Given the description of an element on the screen output the (x, y) to click on. 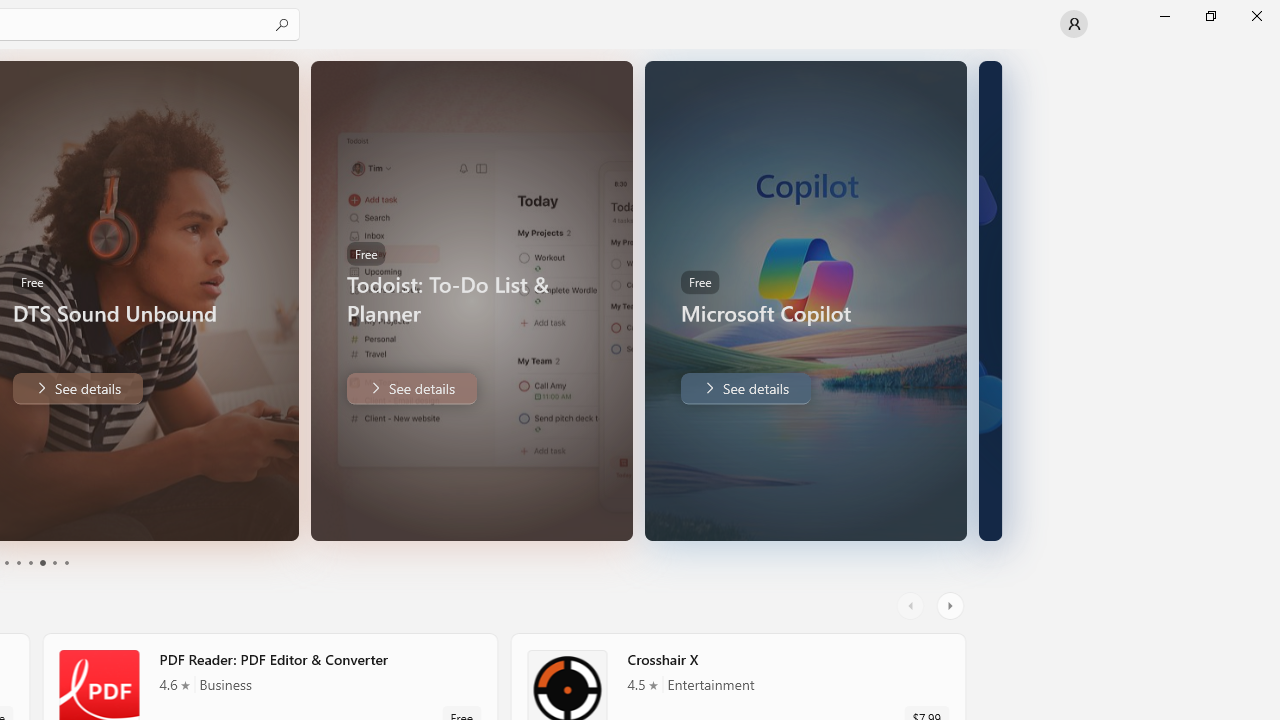
Page 3 (29, 562)
Restore Microsoft Store (1210, 15)
Page 1 (5, 562)
User profile (1073, 24)
AutomationID: RightScrollButton (952, 606)
AutomationID: LeftScrollButton (913, 606)
Page 6 (65, 562)
AutomationID: Image (989, 300)
Page 2 (17, 562)
Minimize Microsoft Store (1164, 15)
Pager (35, 562)
Page 5 (54, 562)
